Given the description of an element on the screen output the (x, y) to click on. 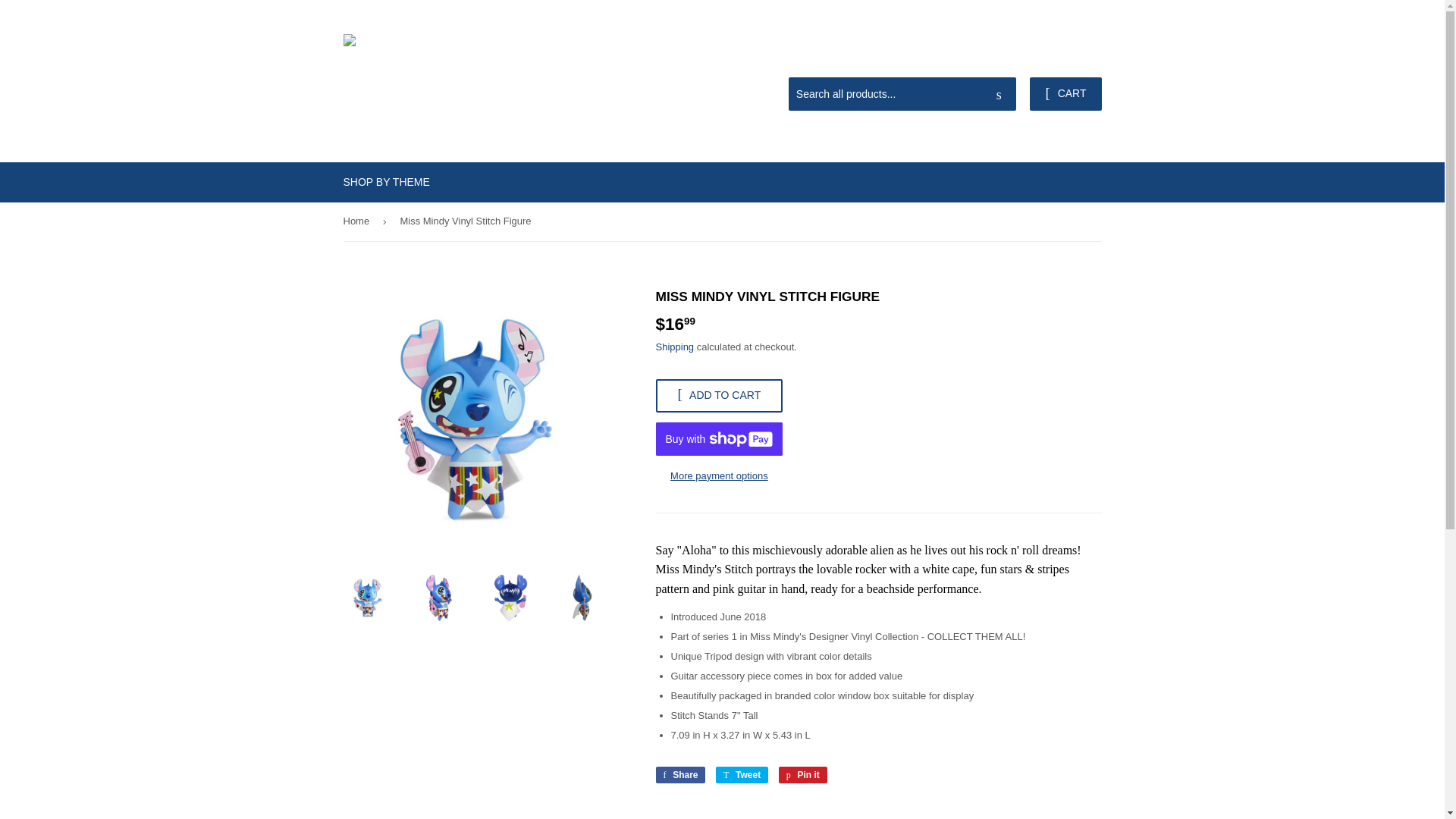
Share on Facebook (679, 774)
Shipping (674, 346)
CART (1064, 93)
Pin on Pinterest (802, 774)
Search (742, 774)
More payment options (802, 774)
ADD TO CART (998, 94)
Create an Account (719, 476)
SHOP BY THEME (719, 395)
Tweet on Twitter (679, 774)
Sign in (1063, 58)
